Given the description of an element on the screen output the (x, y) to click on. 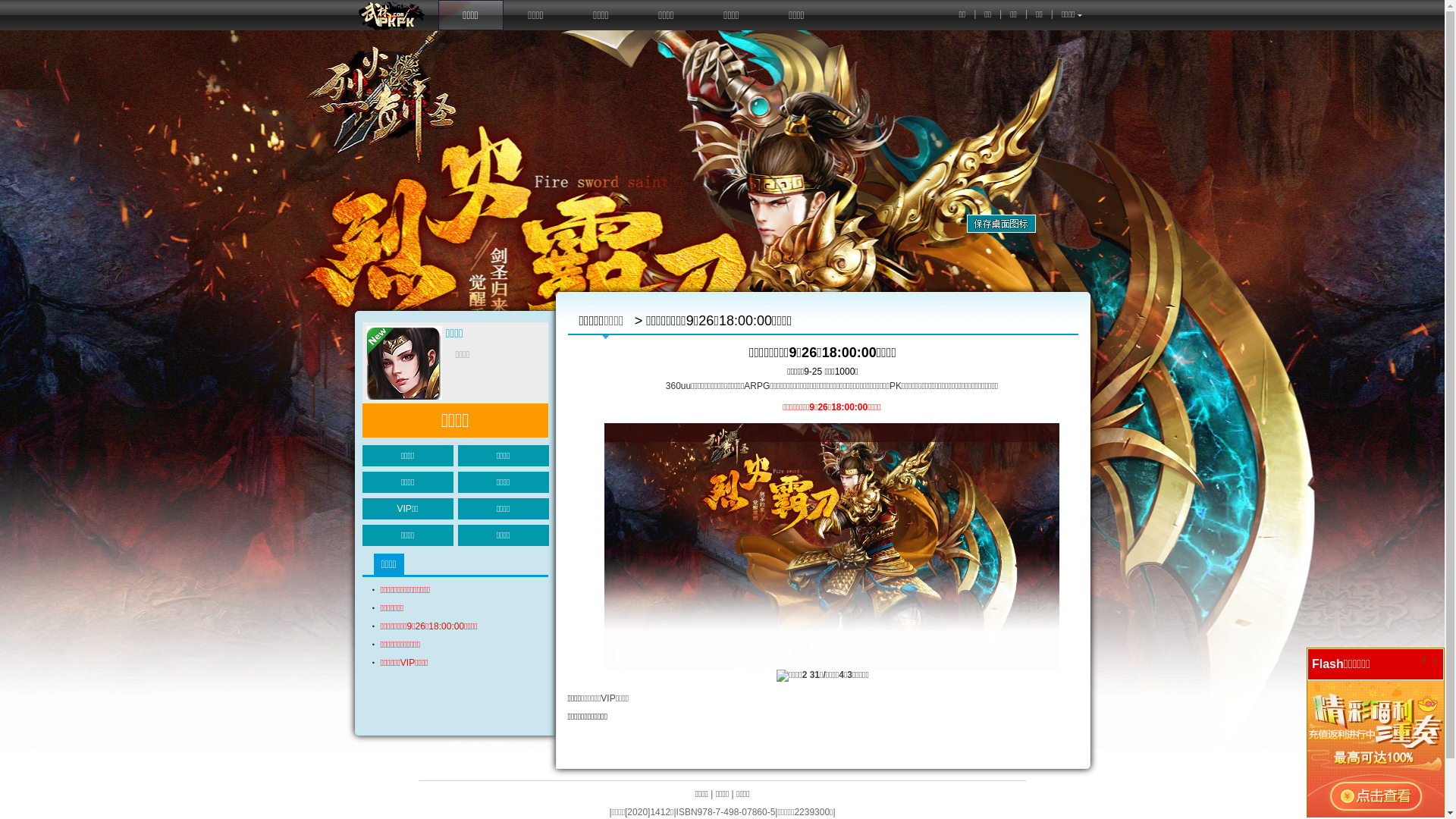
0 Element type: text (1423, 659)
r Element type: text (1435, 659)
